Given the description of an element on the screen output the (x, y) to click on. 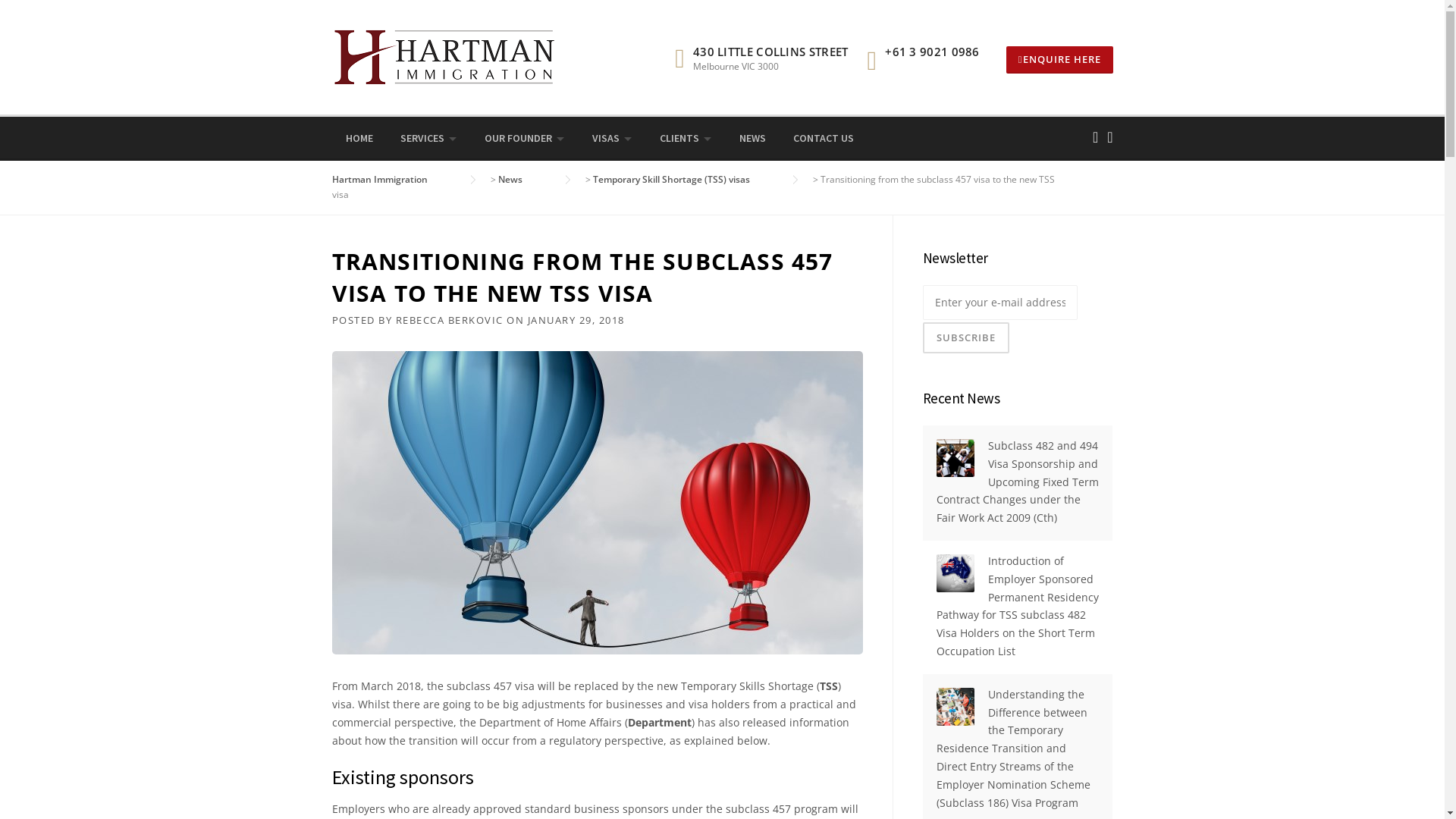
VISAS Element type: text (611, 138)
JANUARY 29, 2018 Element type: text (575, 319)
Skip to content Element type: text (37, 9)
REBECCA BERKOVIC Element type: text (449, 319)
Email Element type: hover (1109, 136)
News Element type: text (524, 178)
Linkedin Element type: hover (1095, 136)
CLIENTS Element type: text (685, 138)
Temporary Skill Shortage (TSS) visas Element type: text (686, 178)
SERVICES Element type: text (428, 138)
OUR FOUNDER Element type: text (523, 138)
CONTACT US Element type: text (823, 138)
Hartman Immigration Element type: hover (445, 55)
Search Element type: text (38, 18)
NEWS Element type: text (751, 138)
ENQUIRE HERE Element type: text (1059, 59)
Hartman Immigration Element type: text (395, 178)
HOME Element type: text (359, 138)
Subscribe Element type: text (965, 337)
